Given the description of an element on the screen output the (x, y) to click on. 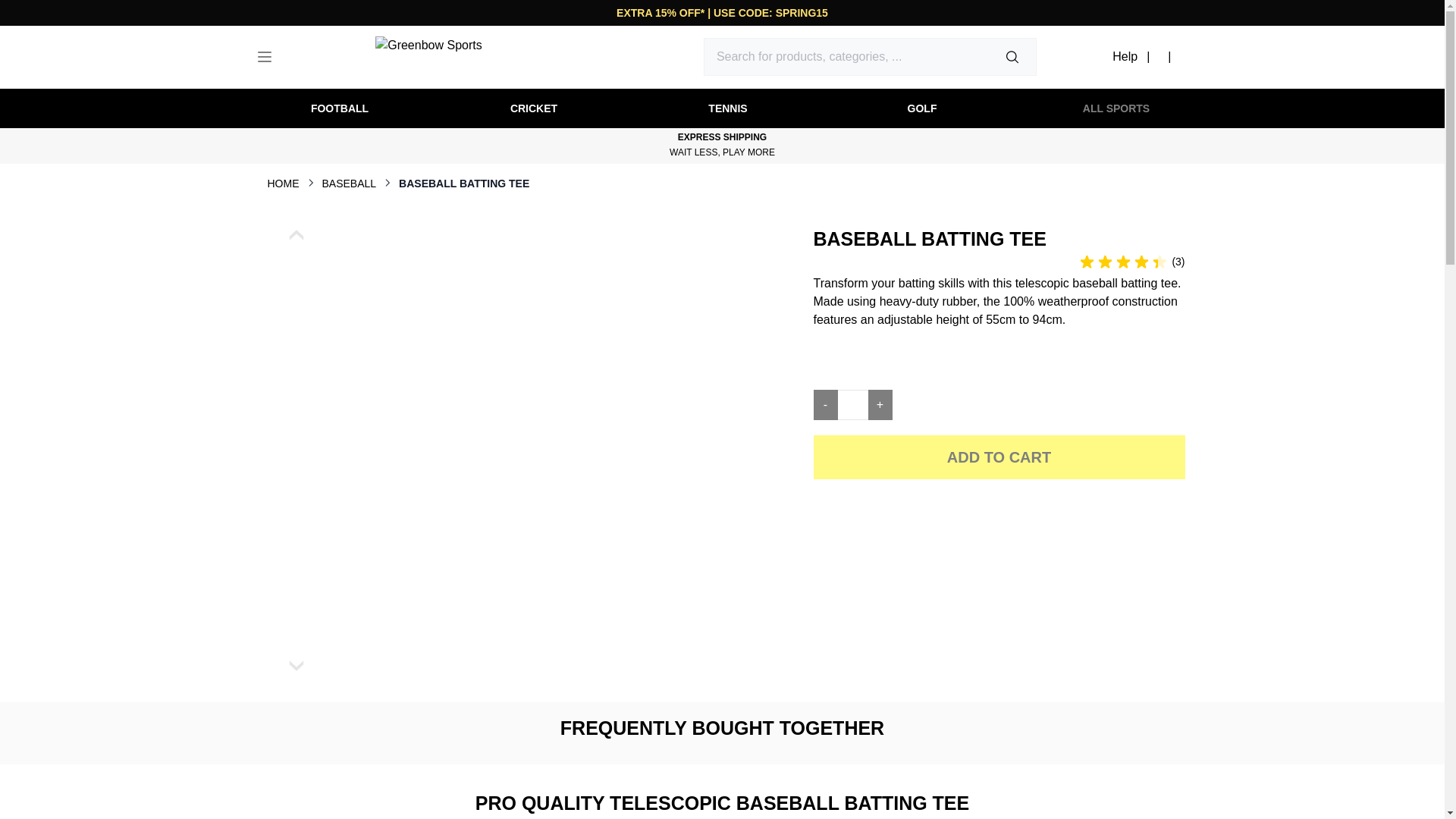
Go to Home Page (282, 186)
Greenbow Sports (482, 56)
Add to Cart (998, 456)
See previous image (295, 234)
CHEVRON-RIGHT (309, 182)
CHEVRON-RIGHT (387, 182)
Greenbow Sports (481, 56)
See next image (295, 665)
Open Menu (1115, 107)
